Given the description of an element on the screen output the (x, y) to click on. 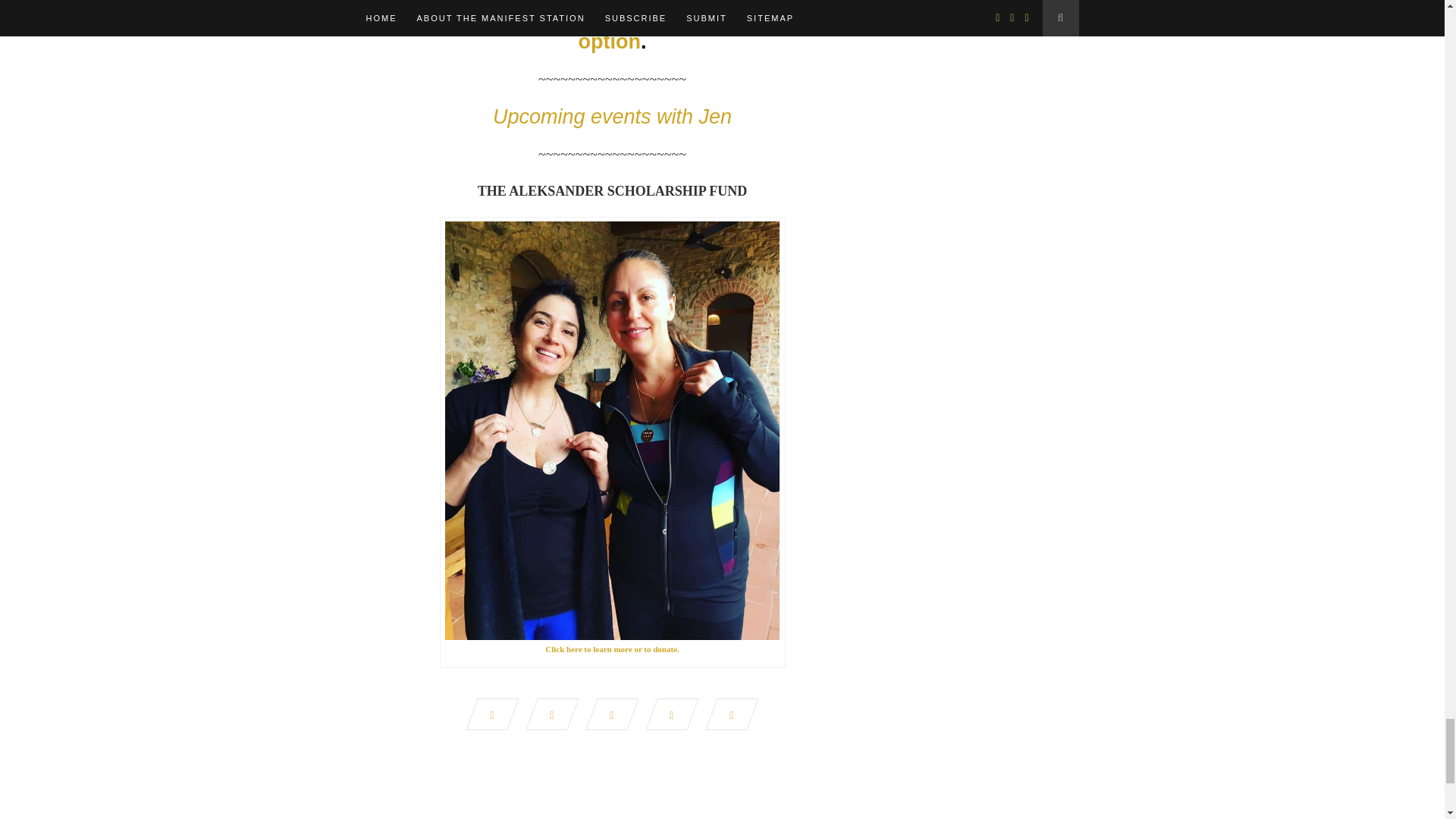
Click here to learn more or to donate. (611, 648)
Anti-racist resources, because (529, 17)
silence is not an option (710, 29)
Upcoming events with Jen (612, 116)
